Given the description of an element on the screen output the (x, y) to click on. 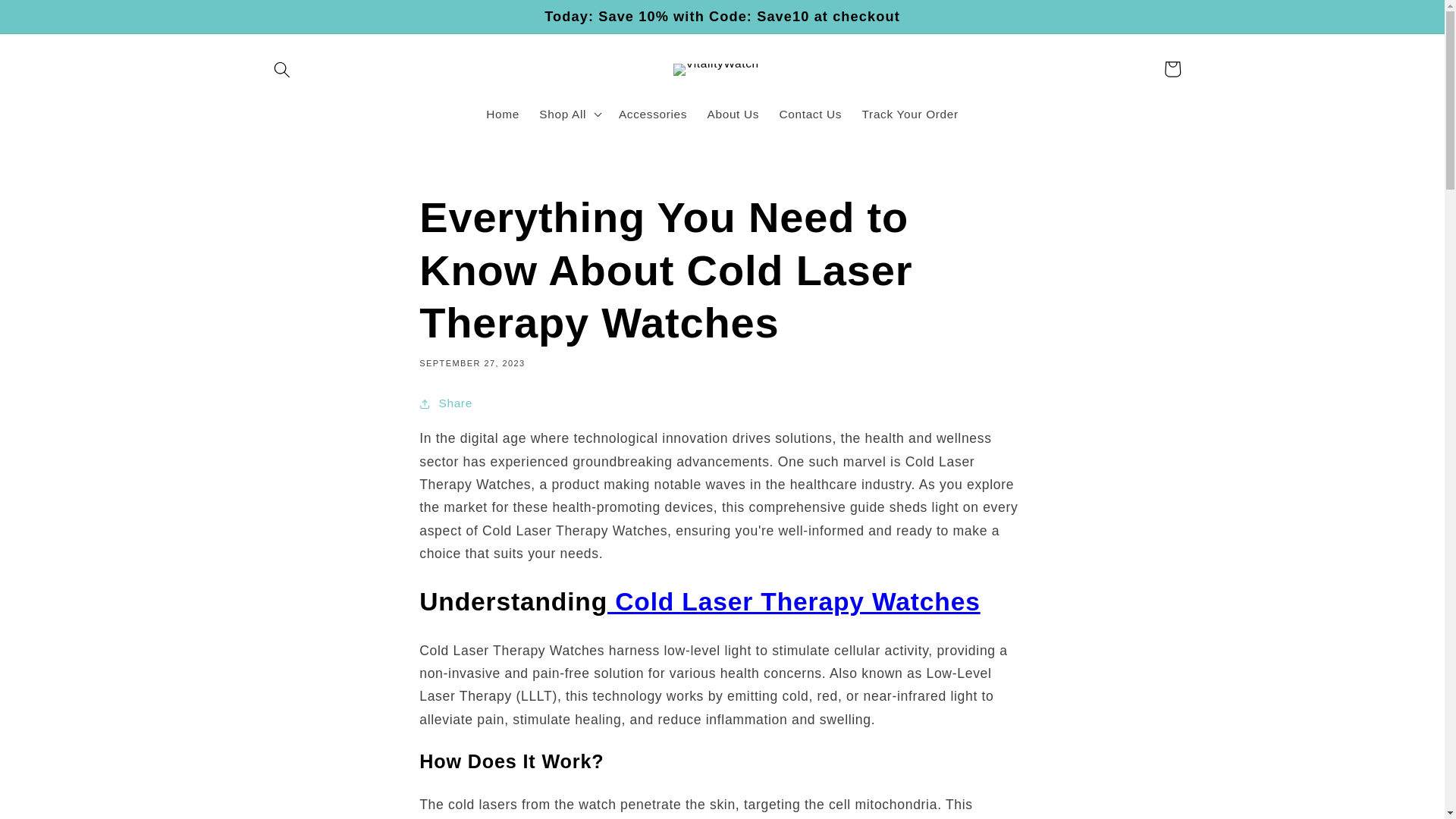
About Us (732, 113)
Contact Us (809, 113)
Track Your Order (909, 113)
Skip to content (50, 19)
Accessories (652, 113)
Cold Laser Therapy Watches (793, 601)
Cart (1172, 68)
Home (502, 113)
